Given the description of an element on the screen output the (x, y) to click on. 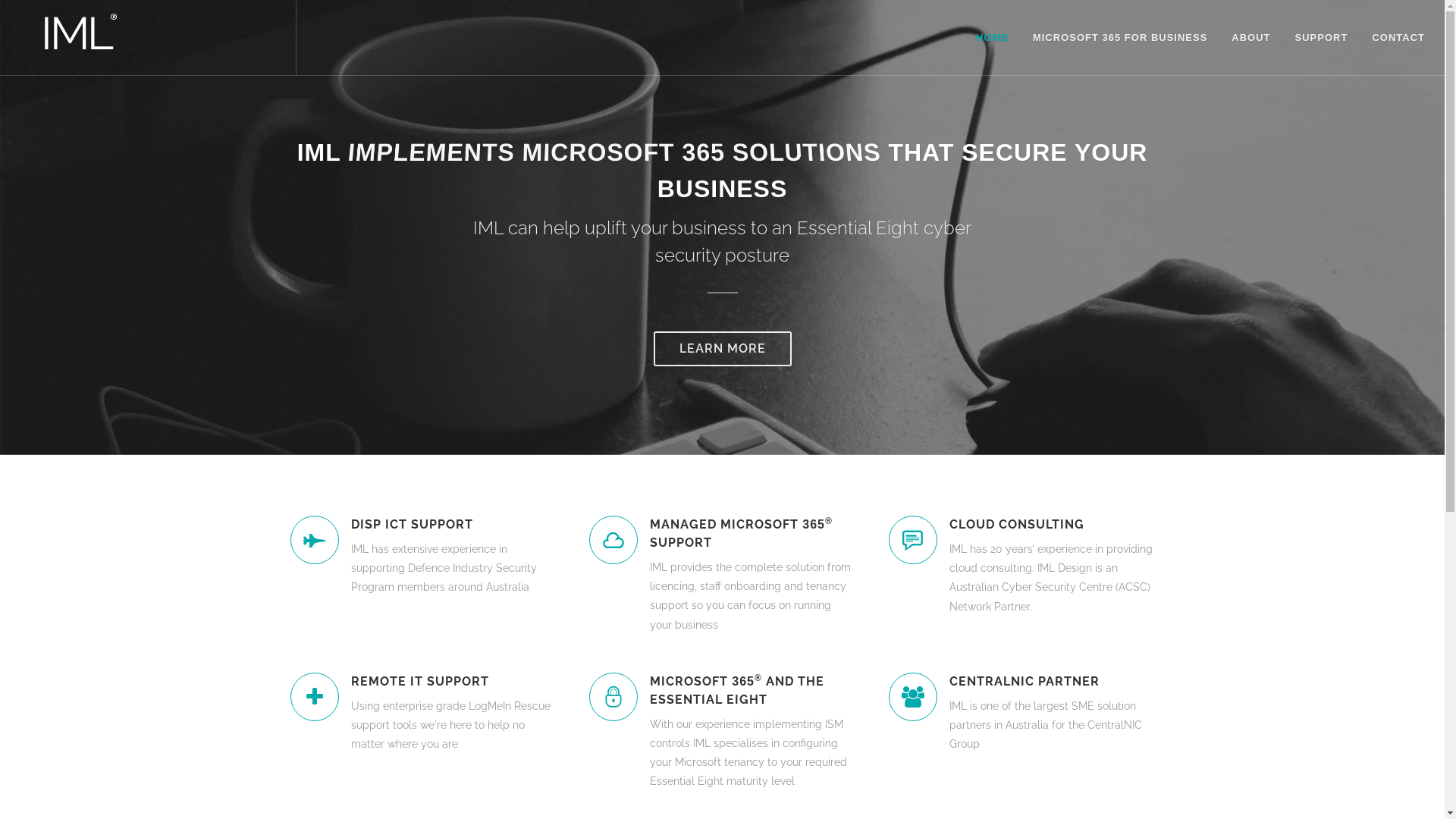
CENTRALNIC PARTNER Element type: text (1051, 681)
REMOTE IT SUPPORT Element type: text (452, 681)
DISP ICT SUPPORT Element type: text (452, 524)
CLOUD CONSULTING Element type: text (1051, 524)
MICROSOFT 365 FOR BUSINESS Element type: text (1119, 37)
HOME Element type: text (991, 37)
ABOUT Element type: text (1250, 37)
LEARN MORE Element type: text (722, 347)
SUPPORT Element type: text (1321, 37)
CONTACT Element type: text (1398, 37)
